Given the description of an element on the screen output the (x, y) to click on. 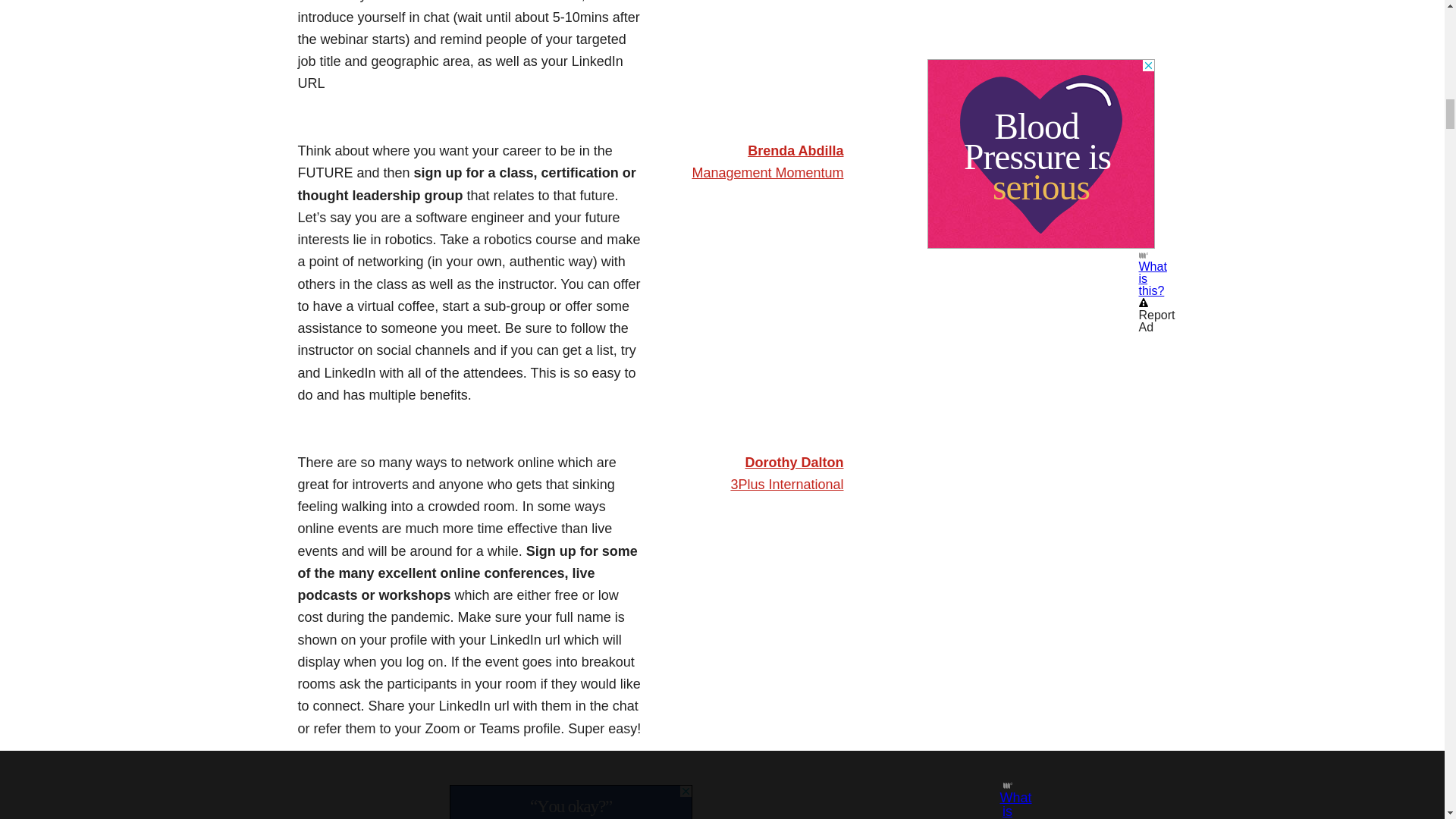
Brenda Abdilla (795, 150)
3Plus International (786, 484)
3rd party ad content (569, 801)
Management Momentum (767, 172)
Dorothy Dalton (793, 462)
